Given the description of an element on the screen output the (x, y) to click on. 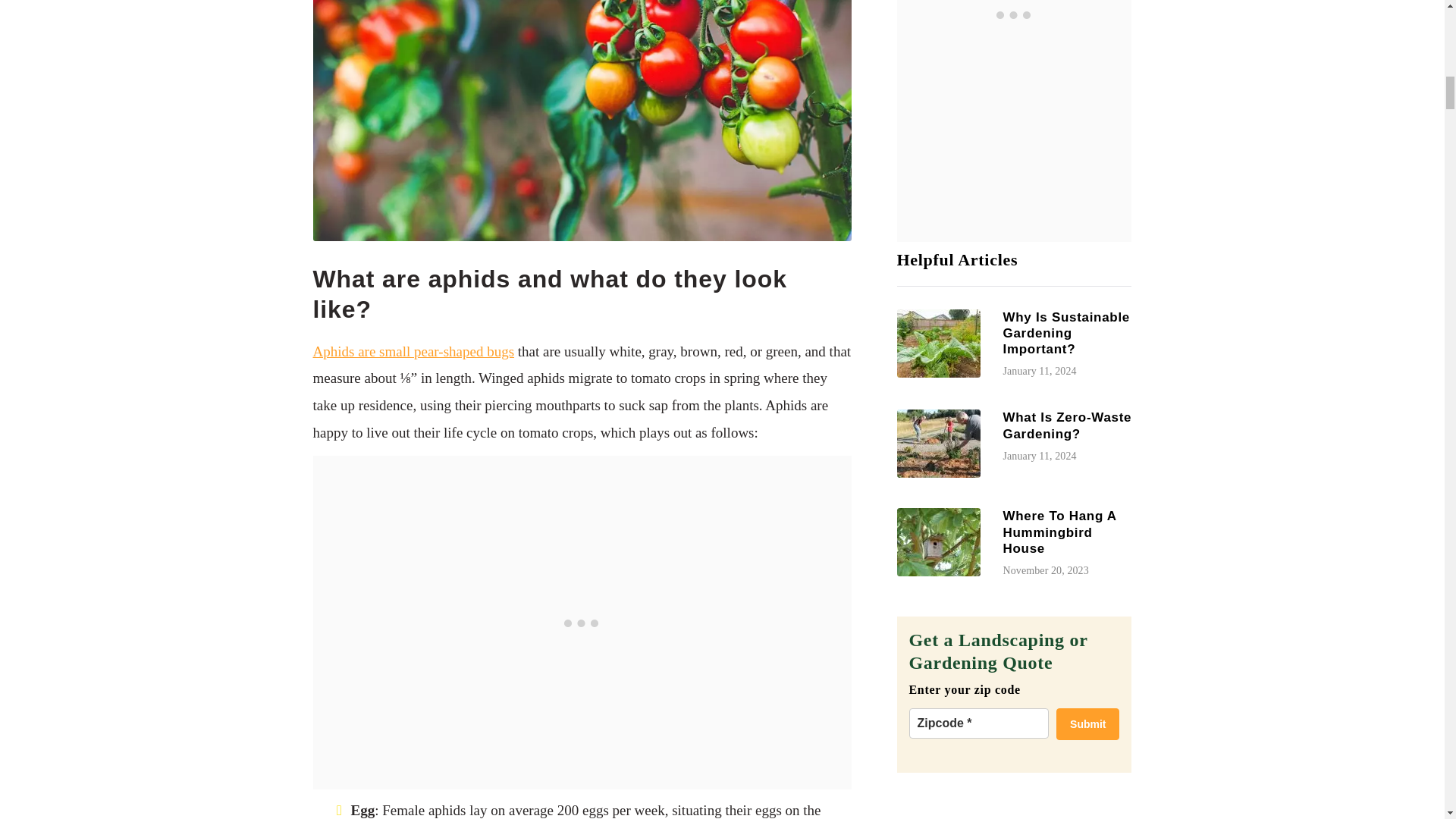
Aphids are small pear-shaped bugs (413, 351)
